Given the description of an element on the screen output the (x, y) to click on. 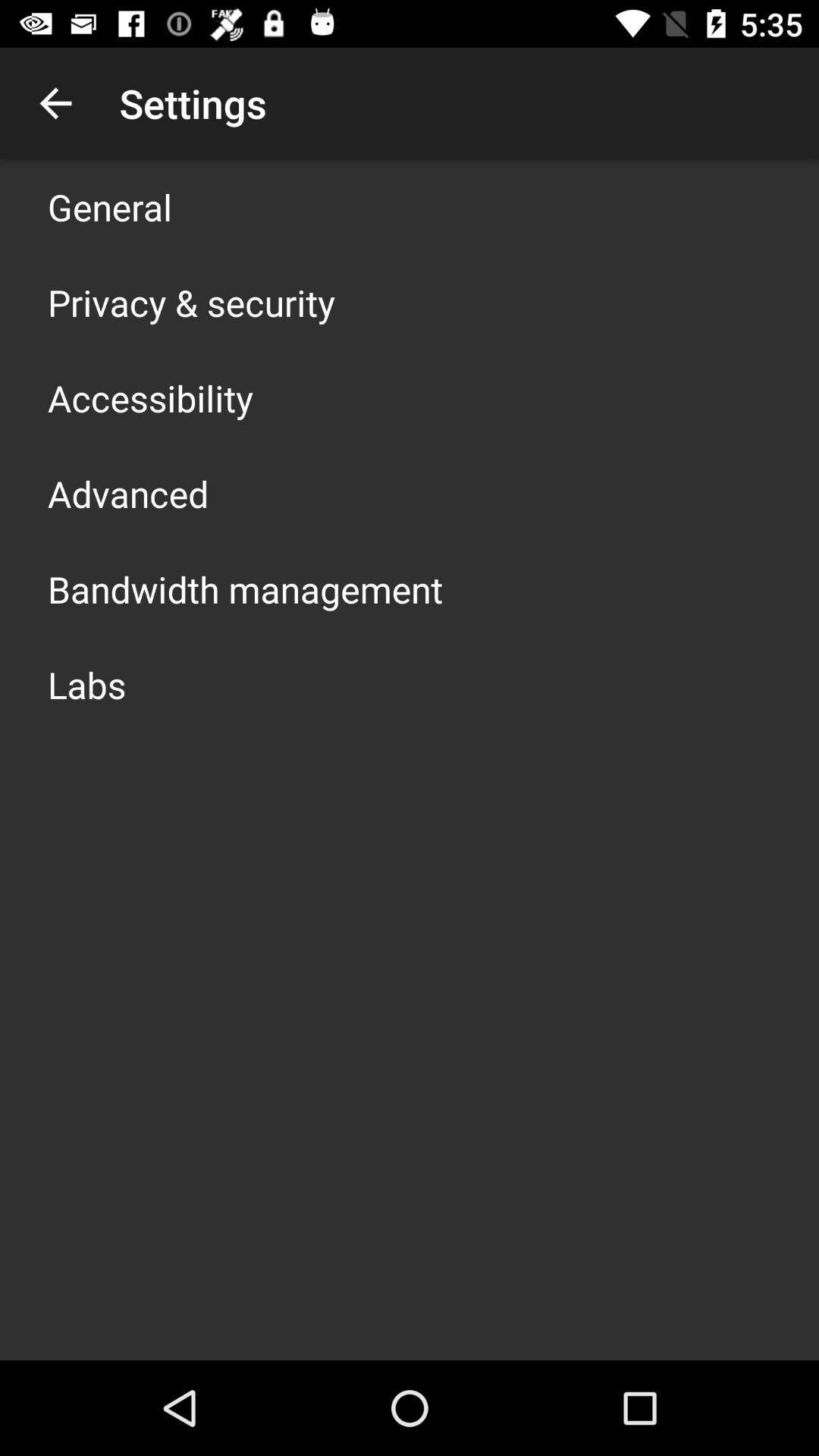
jump until the bandwidth management icon (245, 588)
